Given the description of an element on the screen output the (x, y) to click on. 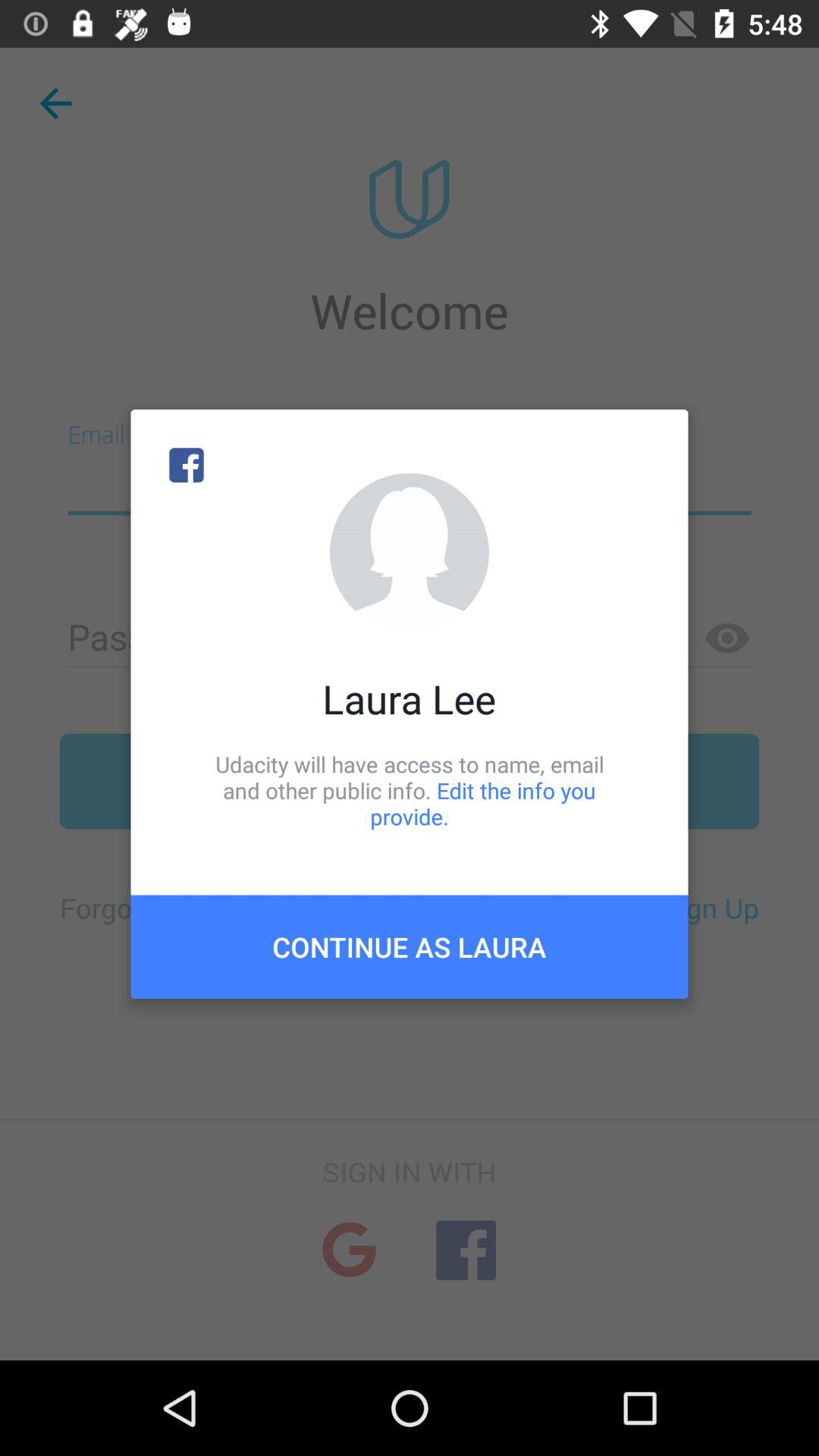
jump to the udacity will have item (409, 790)
